Given the description of an element on the screen output the (x, y) to click on. 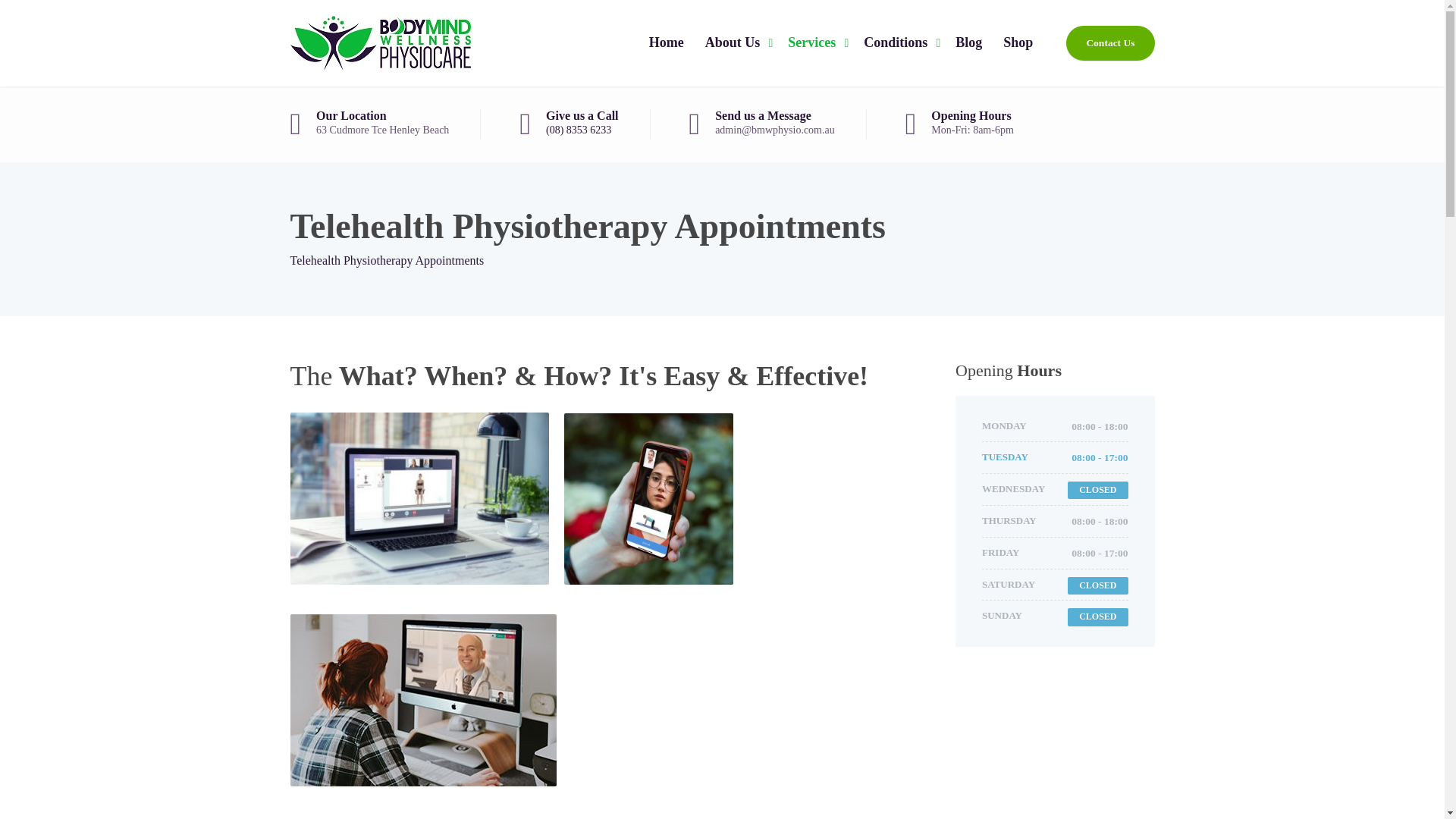
About Us (735, 43)
Contact Us (1109, 42)
Conditions (898, 43)
